Given the description of an element on the screen output the (x, y) to click on. 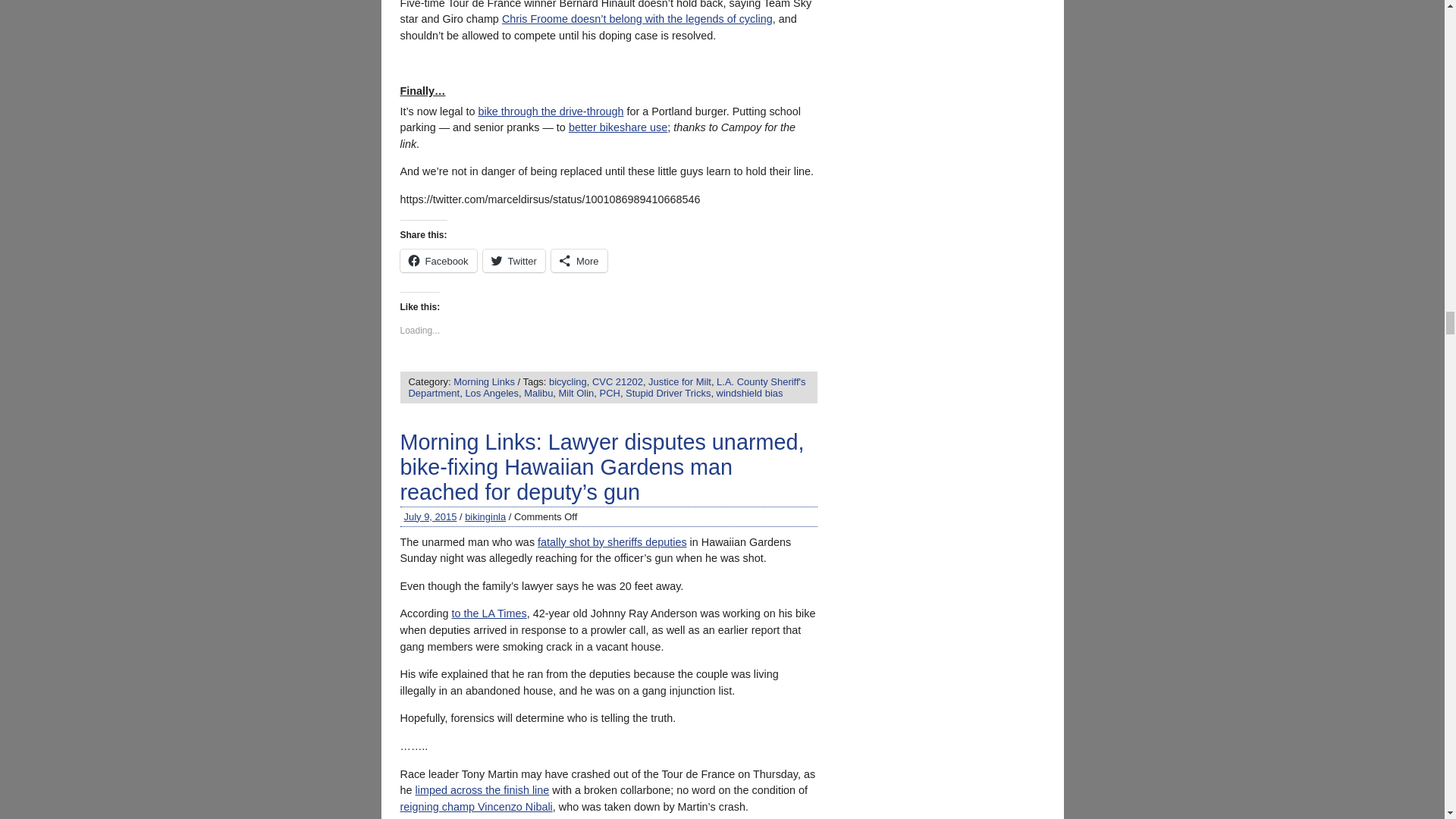
Click to share on Twitter (513, 260)
Click to share on Facebook (438, 260)
